Given the description of an element on the screen output the (x, y) to click on. 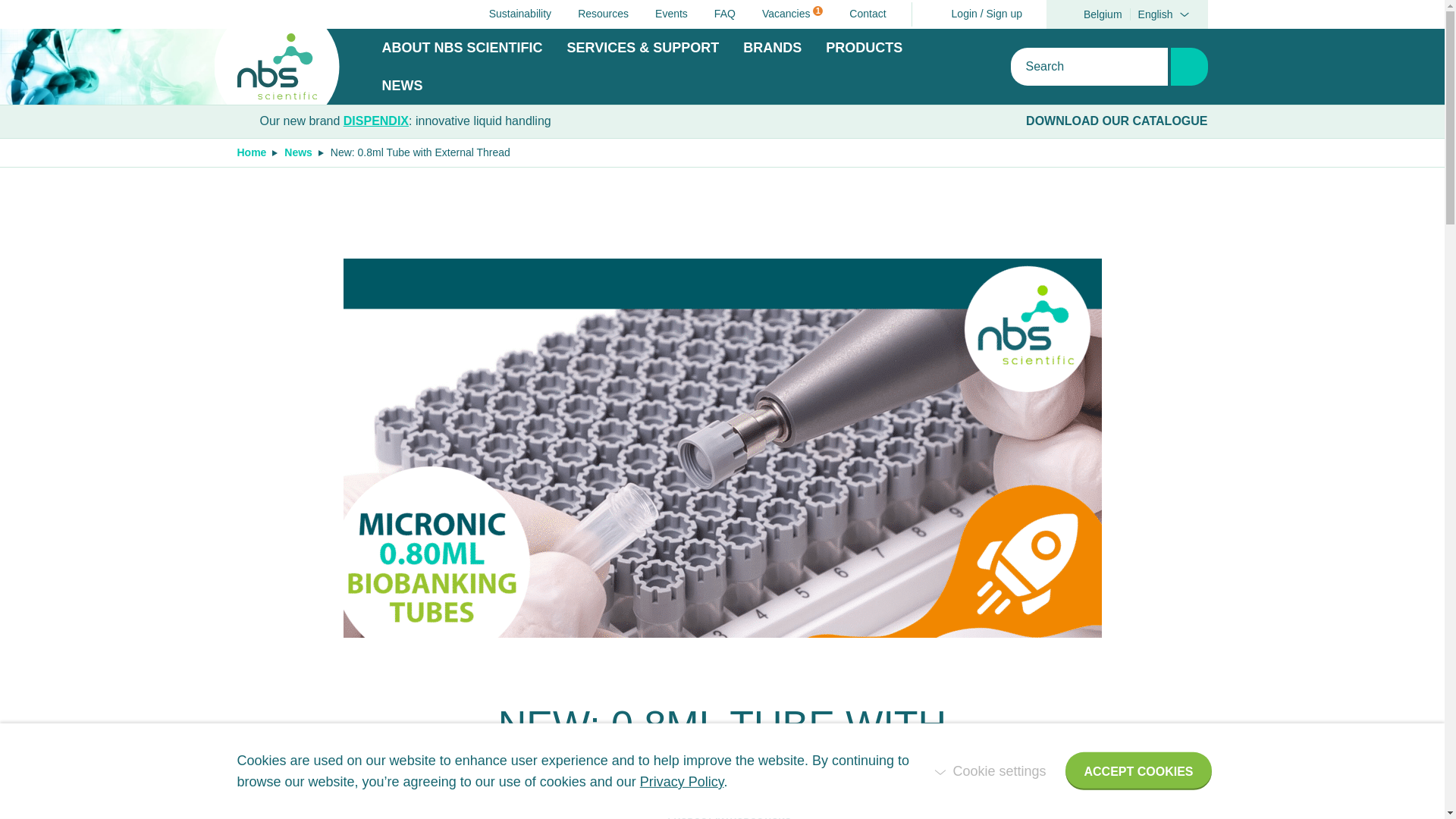
ABOUT NBS SCIENTIFIC (462, 47)
Sustainability (512, 14)
Contact (785, 14)
 Privacy Statement (859, 14)
FAQ (1127, 14)
Resources (681, 781)
Events (717, 14)
BRANDS (595, 14)
